Given the description of an element on the screen output the (x, y) to click on. 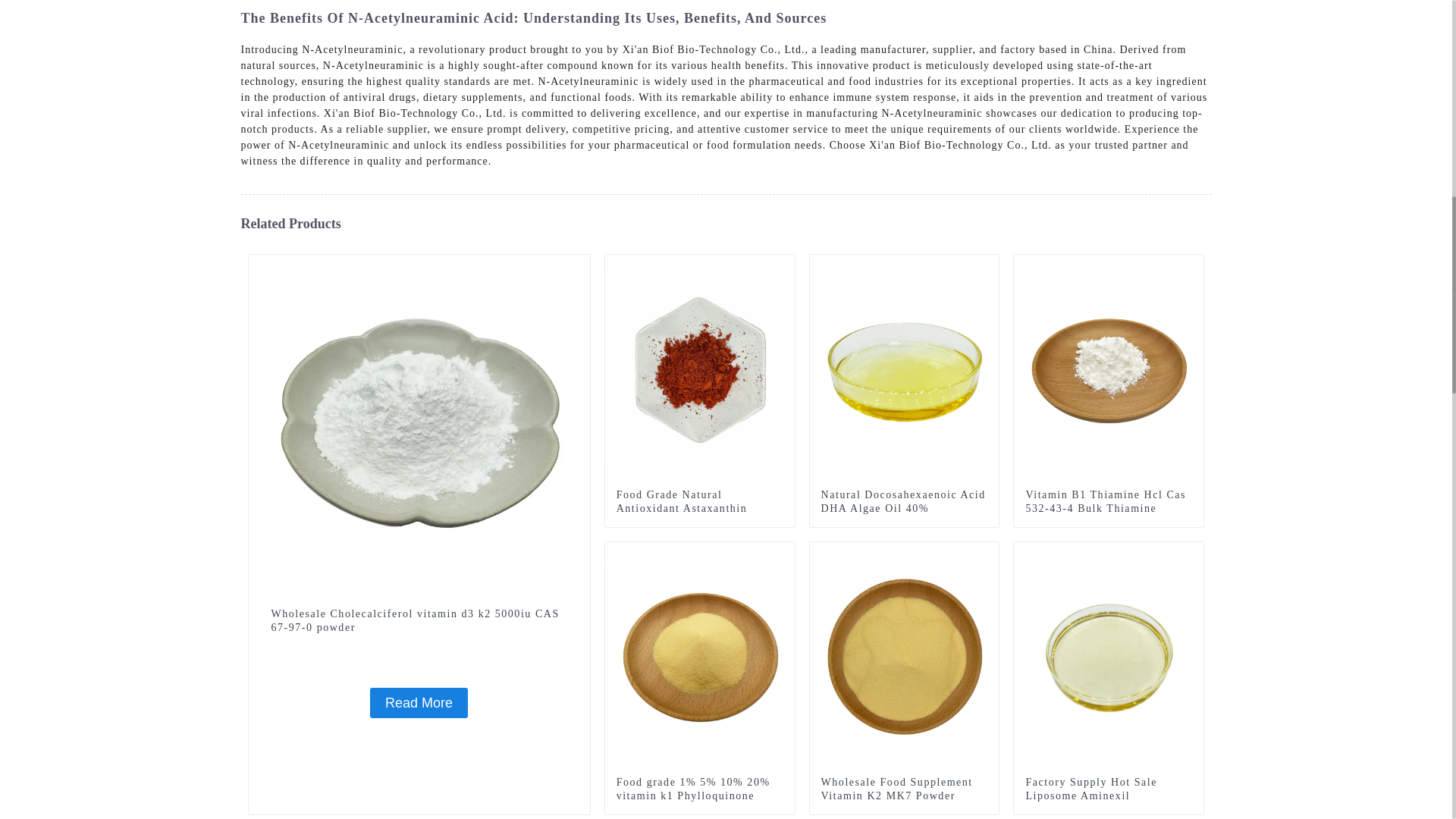
Wholesale Food Supplement Vitamin K2 MK7 Powder (904, 789)
Vitamin B1 Thiamine Hcl Cas 532-43-4 Bulk Thiamine Powder (1108, 508)
Vitamin B1 Thiamine Hcl Cas 532-43-4 Bulk Thiamine Powder (1108, 508)
Wholesale Food Supplement Vitamin K2 MK7 Powder (903, 655)
Read More (418, 702)
Vitamin B1 Thiamine Hcl Cas 532-43-4 Bulk Thiamine Powder (1108, 368)
